Given the description of an element on the screen output the (x, y) to click on. 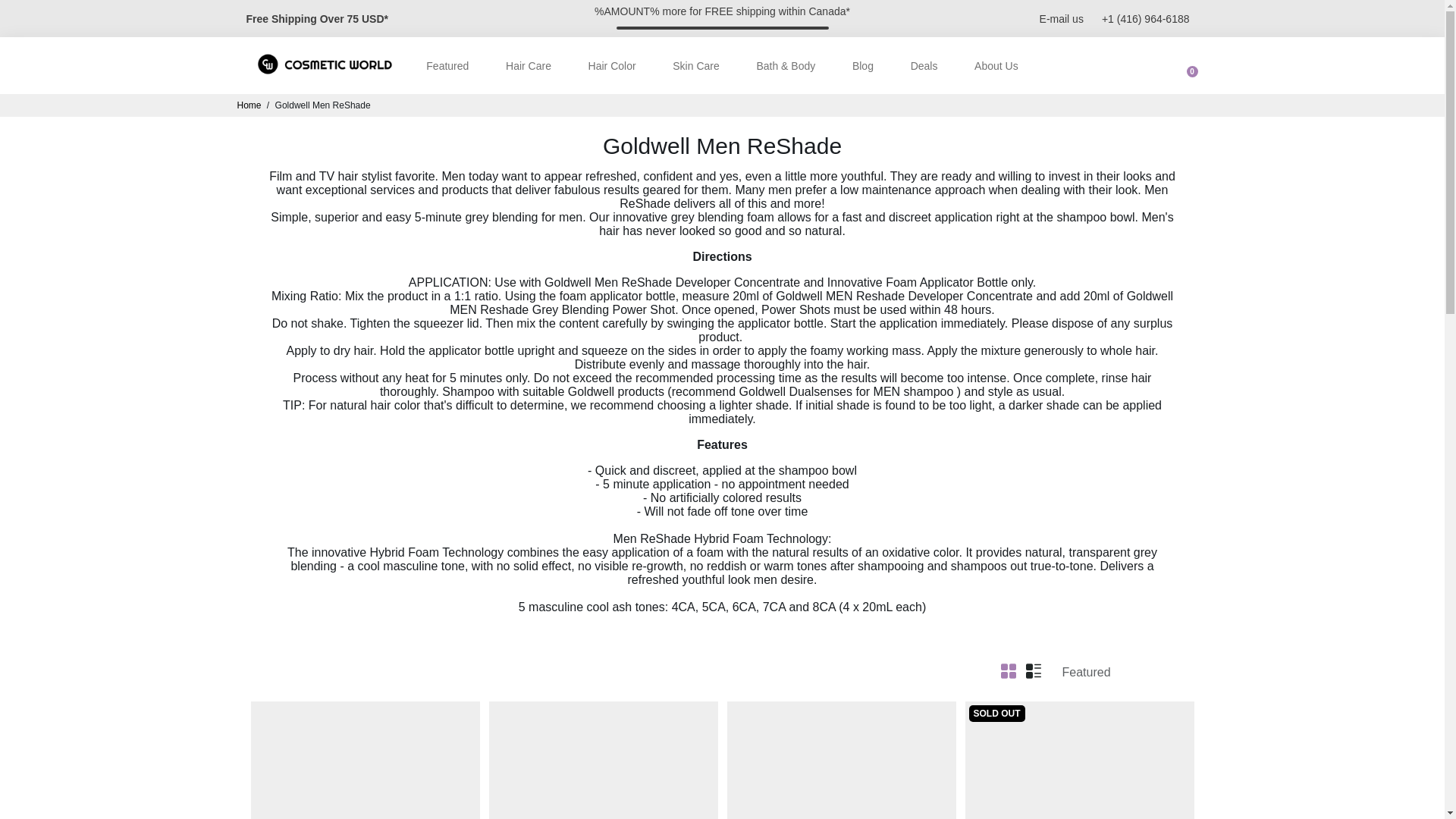
E-mail us (1061, 18)
Featured (446, 65)
Home (247, 104)
Hair Care (528, 65)
